Given the description of an element on the screen output the (x, y) to click on. 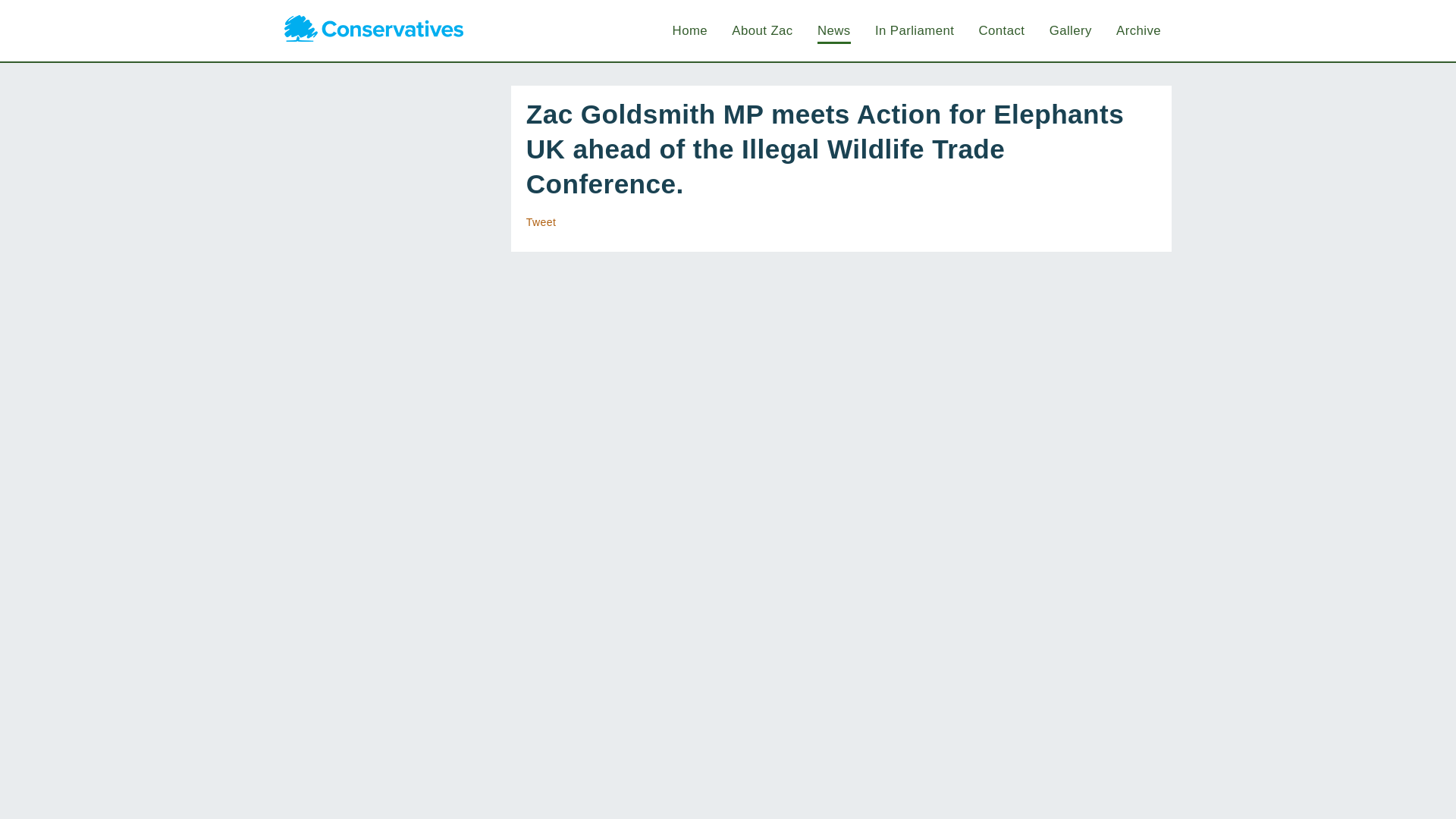
About Zac (762, 30)
In Parliament (914, 30)
About Zac (762, 30)
Home (689, 30)
Contact (1001, 30)
News (833, 30)
Tweet (540, 222)
Gallery (1070, 30)
Archive (1138, 30)
